Given the description of an element on the screen output the (x, y) to click on. 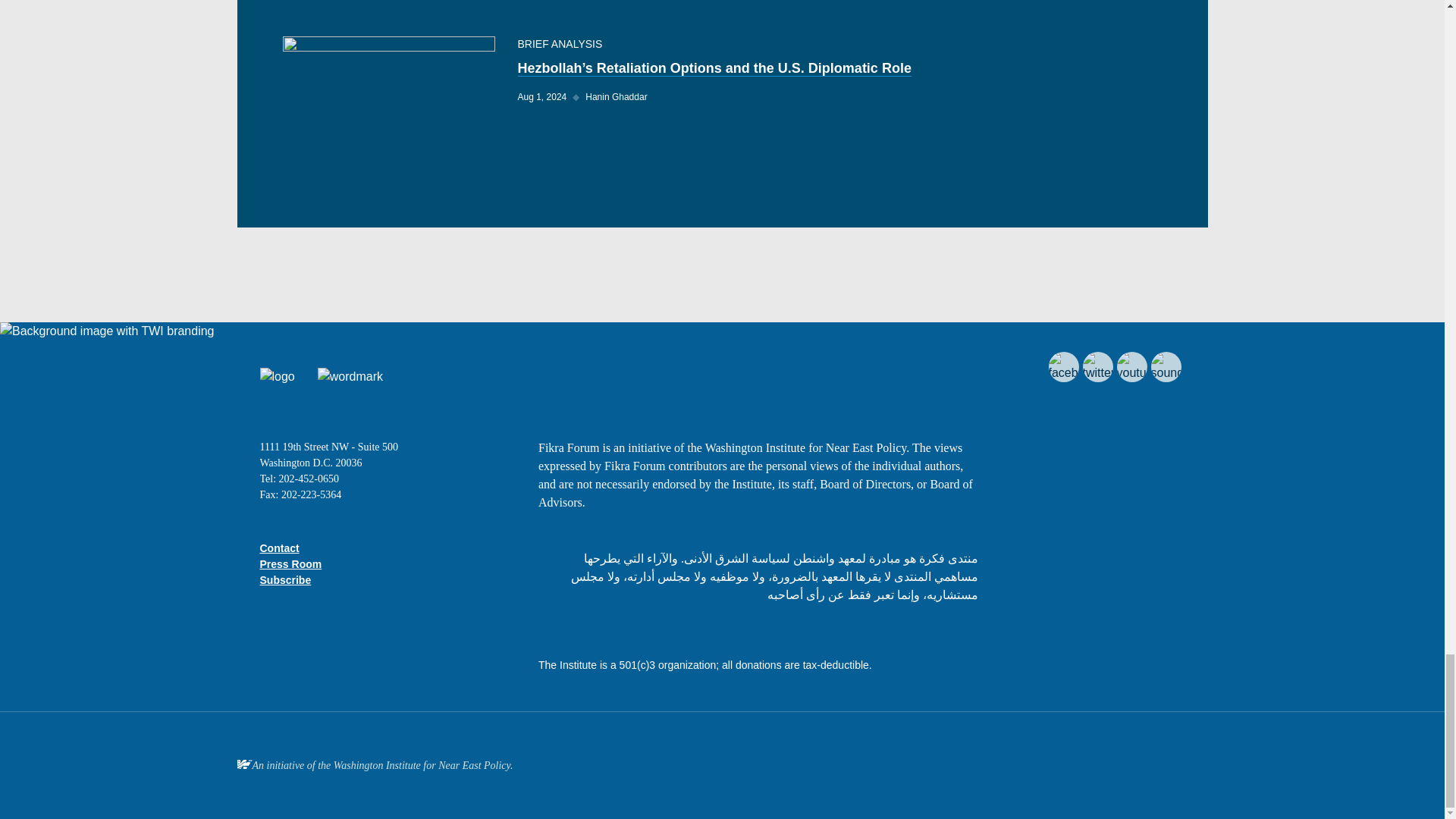
Sign up for email alerts of Institute publications (285, 580)
